Given the description of an element on the screen output the (x, y) to click on. 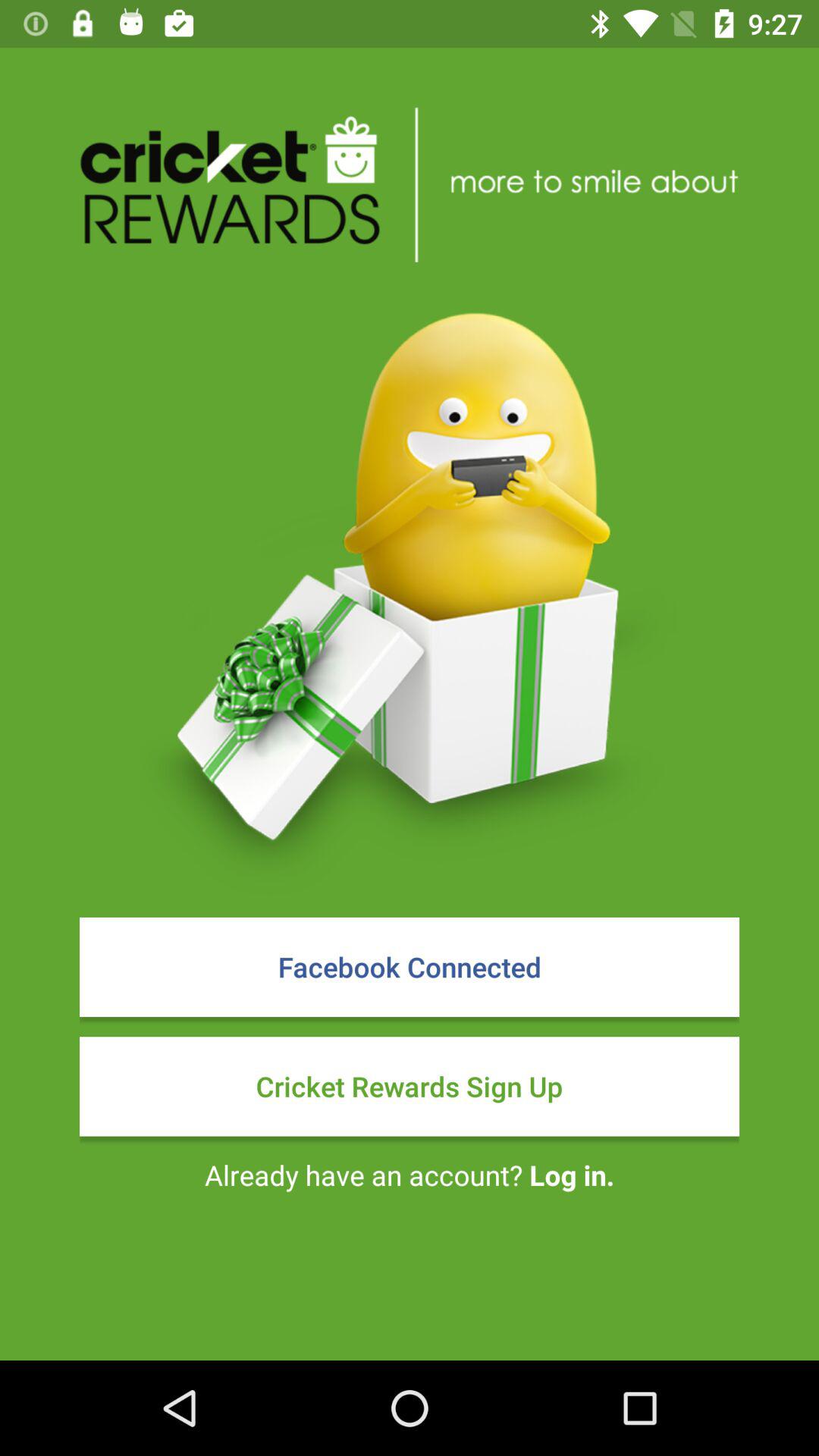
choose cricket rewards sign item (409, 1086)
